Given the description of an element on the screen output the (x, y) to click on. 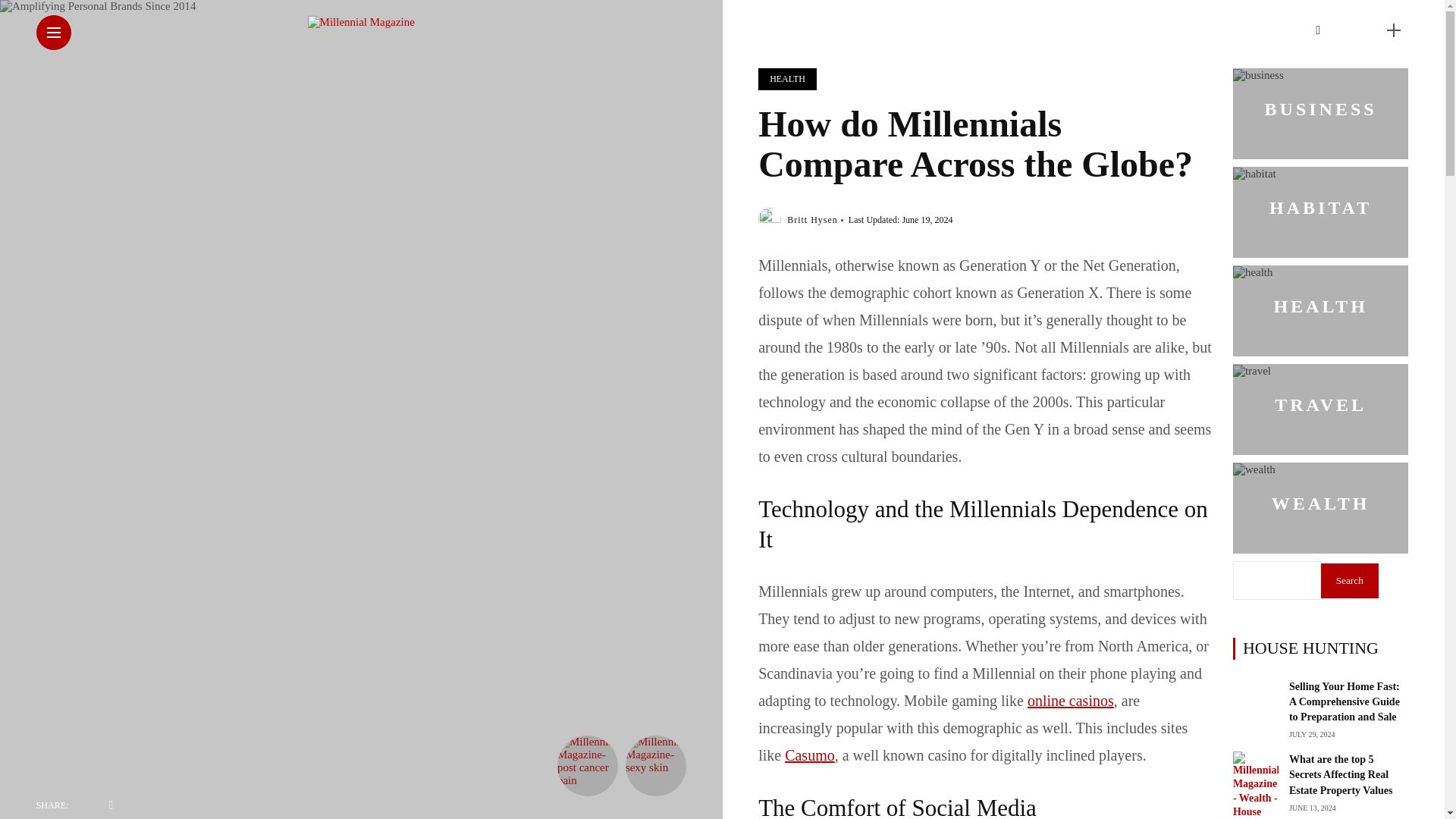
Posts by Britt Hysen (812, 219)
